Given the description of an element on the screen output the (x, y) to click on. 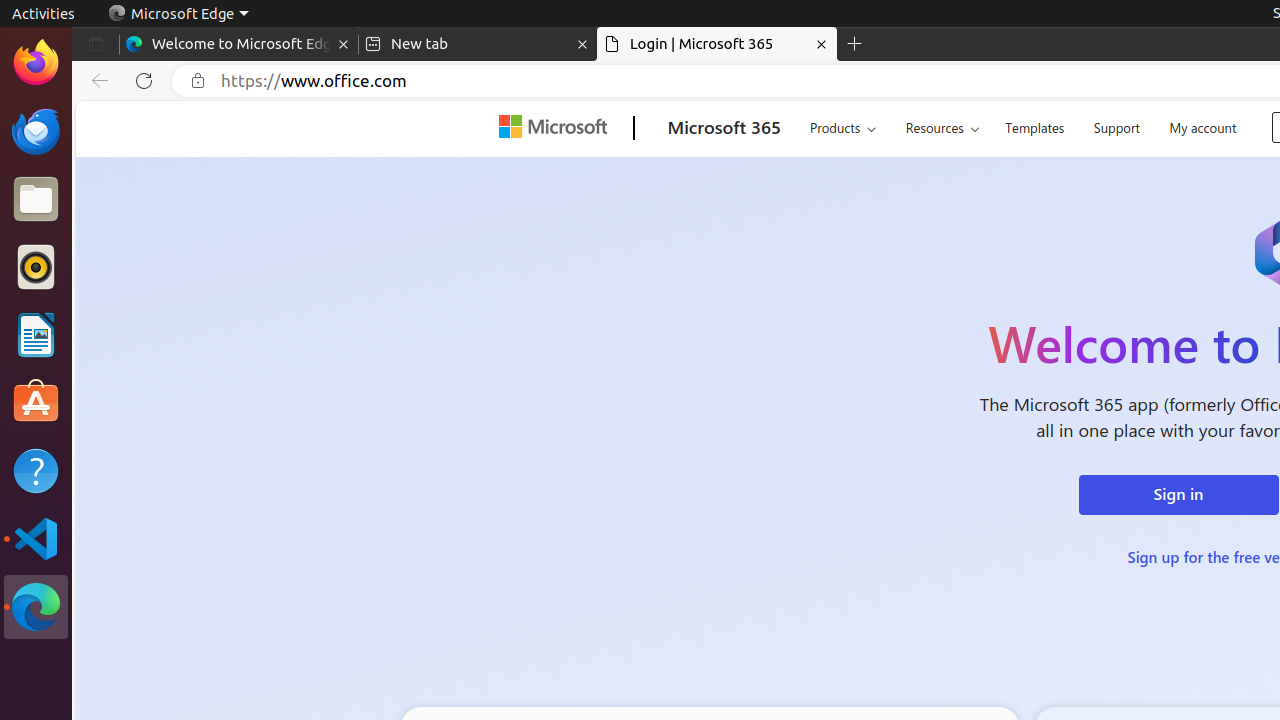
Templates Element type: link (1035, 126)
Back Element type: push-button (96, 81)
New Tab Element type: push-button (855, 44)
New tab Element type: page-tab (478, 44)
Close tab Element type: push-button (343, 44)
